Given the description of an element on the screen output the (x, y) to click on. 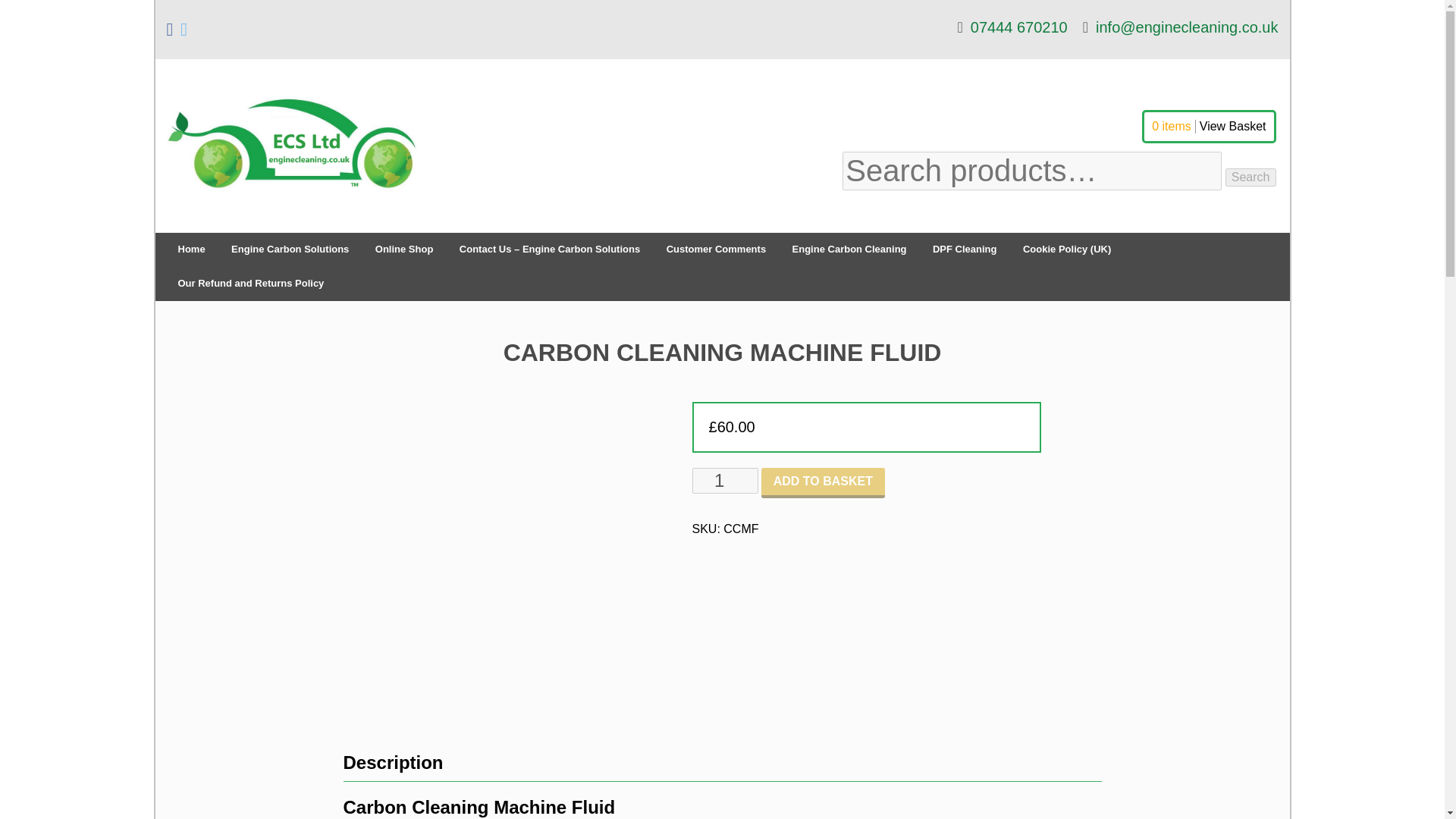
Engine Carbon Solutions Ltd (291, 225)
Engine Carbon Cleaning (849, 248)
ADD TO BASKET (823, 482)
07444 670210 (1011, 27)
Customer Comments (715, 248)
Online Shop (404, 248)
Call Engine Carbon Solutions Ltd (1011, 27)
1 (724, 480)
Home (191, 248)
Our Refund and Returns Policy (250, 283)
